Given the description of an element on the screen output the (x, y) to click on. 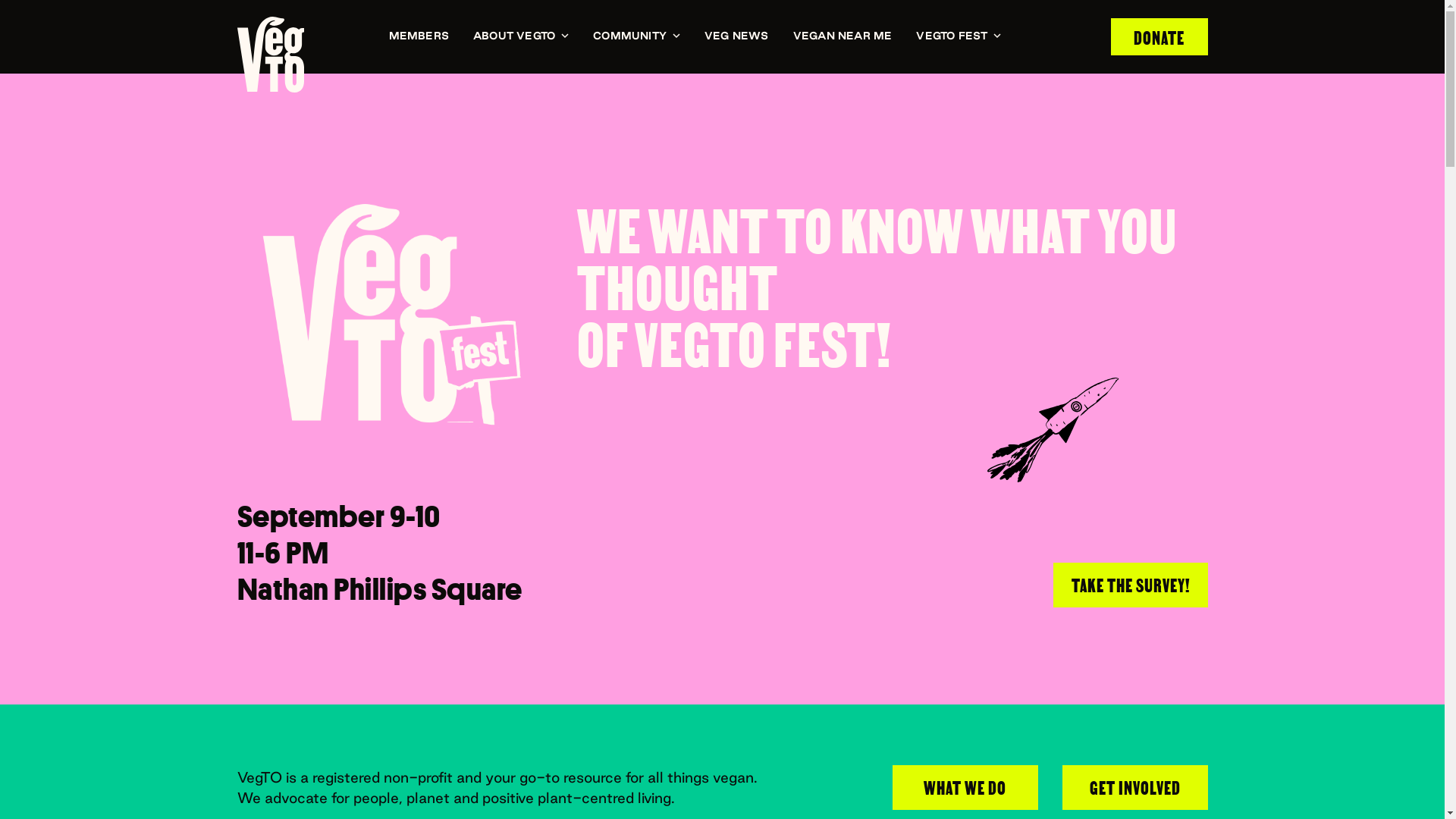
TAKE THE SURVEY! Element type: text (1129, 584)
MEMBERS Element type: text (418, 36)
DONATE Element type: text (1158, 36)
dropdown arrow icon Element type: hover (676, 35)
WHAT WE DO Element type: text (964, 787)
VEG NEWS Element type: text (736, 36)
dropdown arrow icon Element type: hover (997, 35)
dropdown arrow icon Element type: hover (564, 35)
GET INVOLVED Element type: text (1134, 787)
VEGAN NEAR ME Element type: text (842, 36)
